Given the description of an element on the screen output the (x, y) to click on. 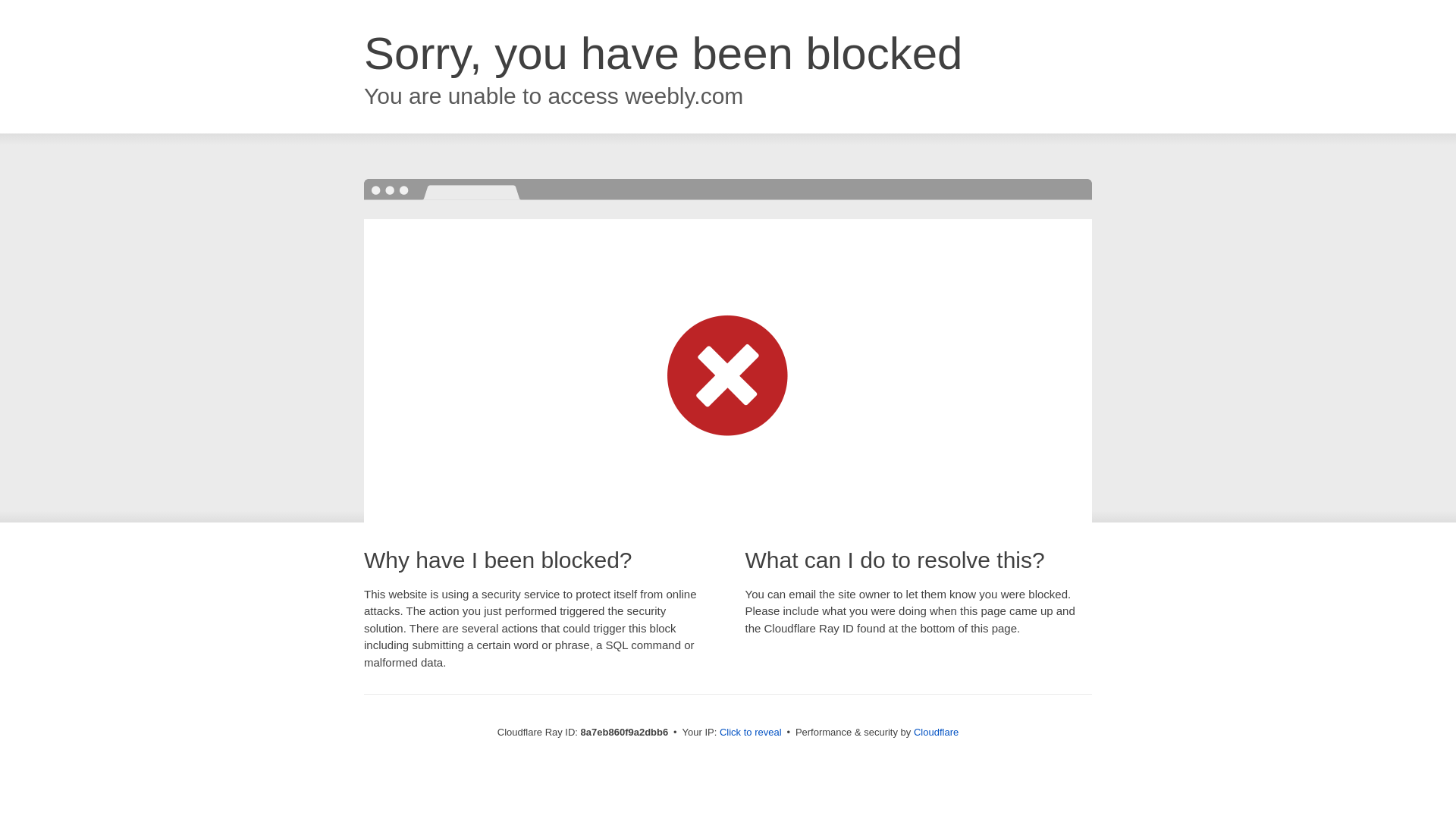
Click to reveal (750, 732)
Cloudflare (936, 731)
